Given the description of an element on the screen output the (x, y) to click on. 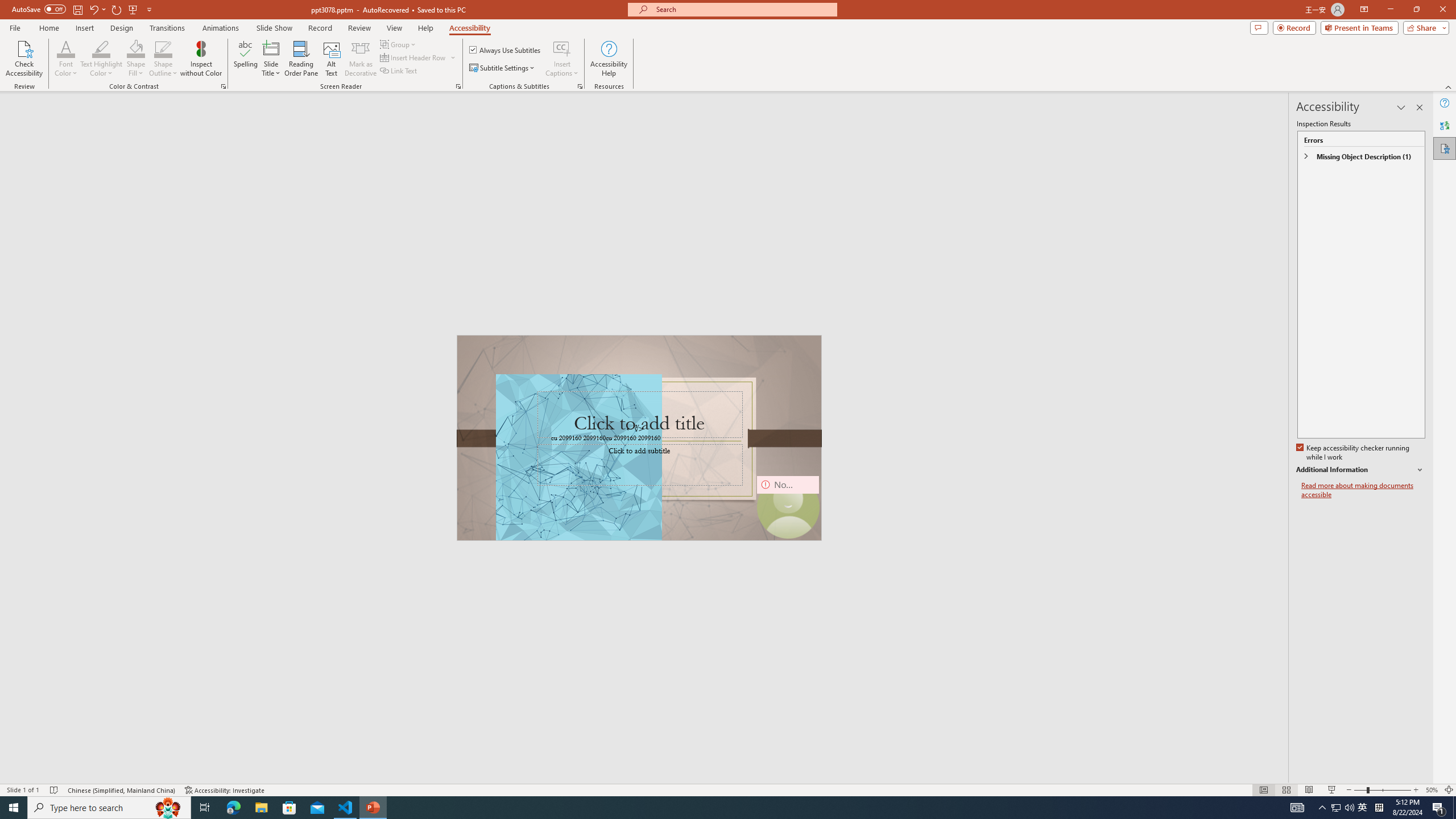
TextBox 7 (635, 428)
Mark as Decorative (360, 58)
Reading Order Pane (301, 58)
Screen Reader (458, 85)
Camera 9, No camera detected. (787, 506)
